Given the description of an element on the screen output the (x, y) to click on. 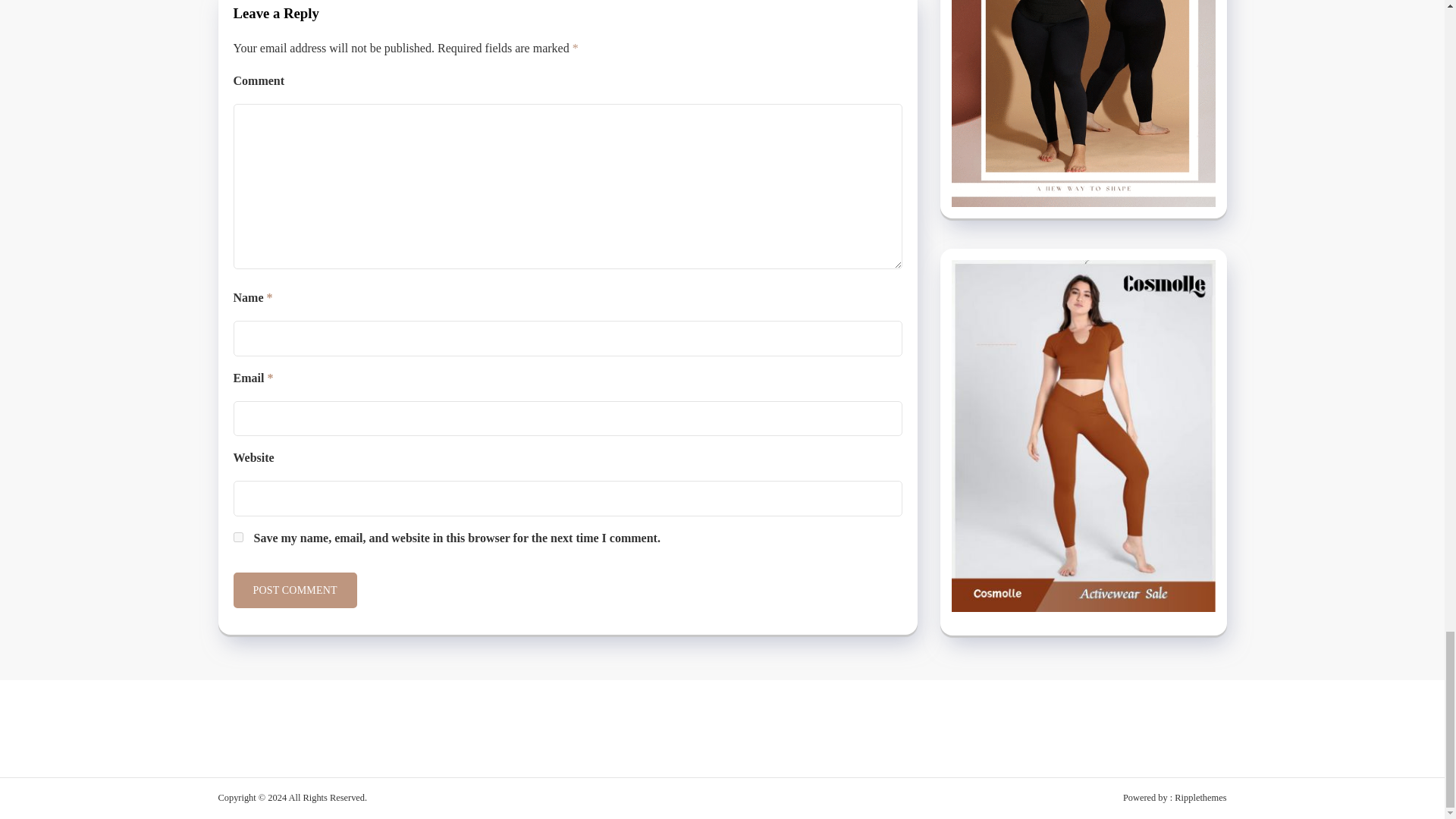
yes (237, 537)
Post Comment (294, 590)
